Given the description of an element on the screen output the (x, y) to click on. 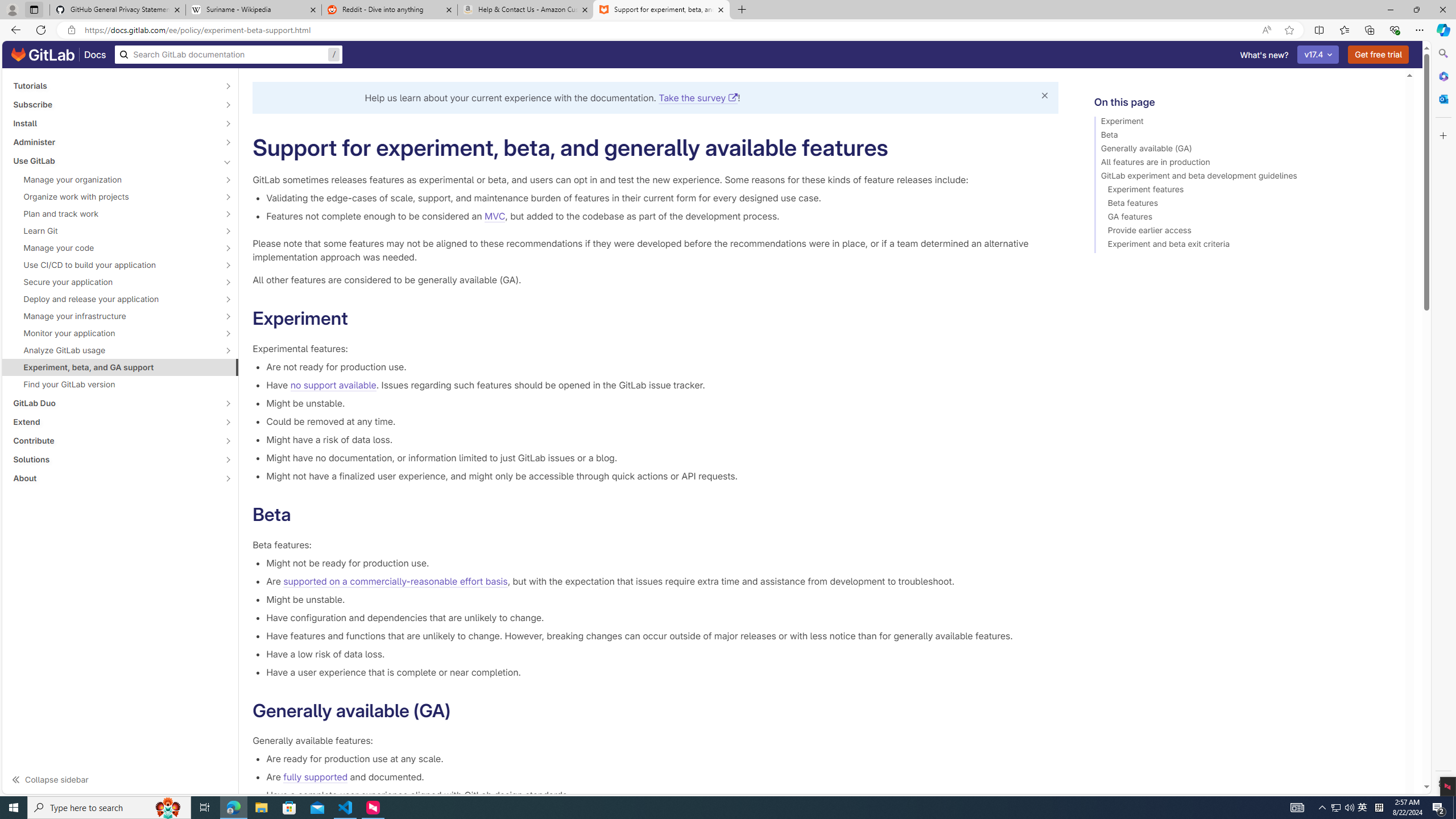
Use GitLab (113, 160)
Secure your application (113, 281)
